Given the description of an element on the screen output the (x, y) to click on. 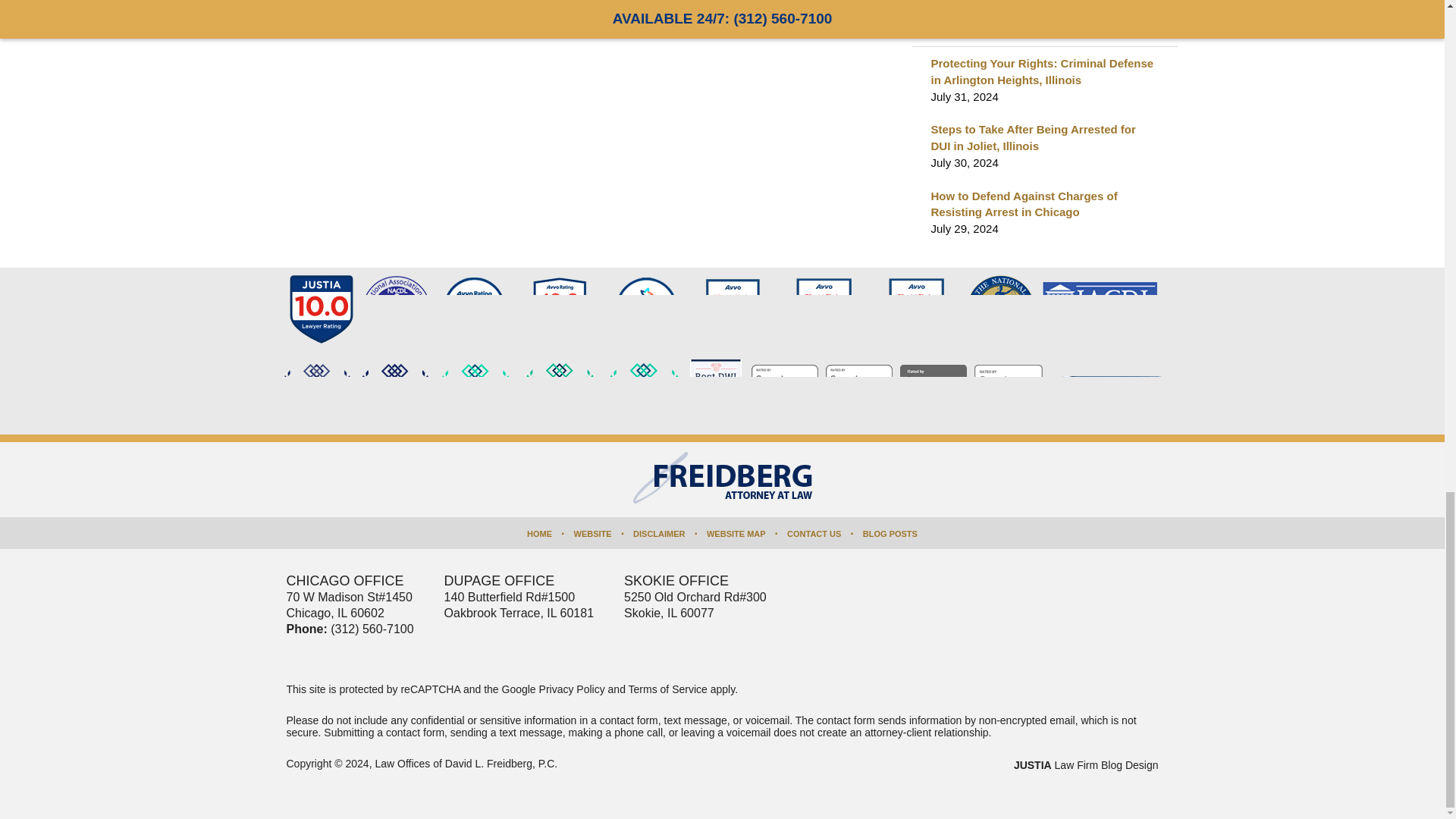
Avvo Badge (559, 309)
Avvo Badge (474, 309)
